Given the description of an element on the screen output the (x, y) to click on. 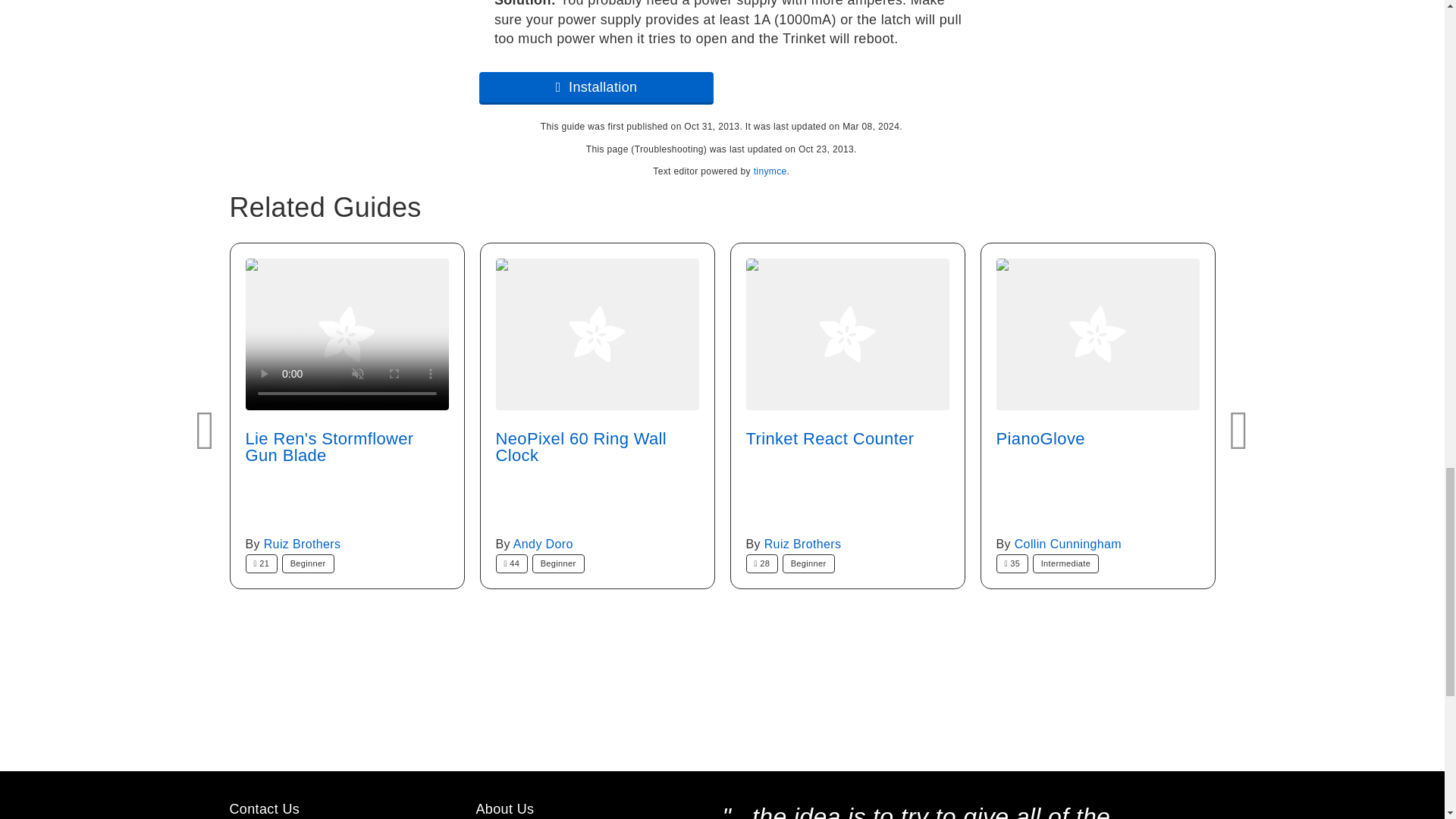
Saves (1012, 563)
Saves (761, 563)
Saves (262, 563)
Saves (512, 563)
